Given the description of an element on the screen output the (x, y) to click on. 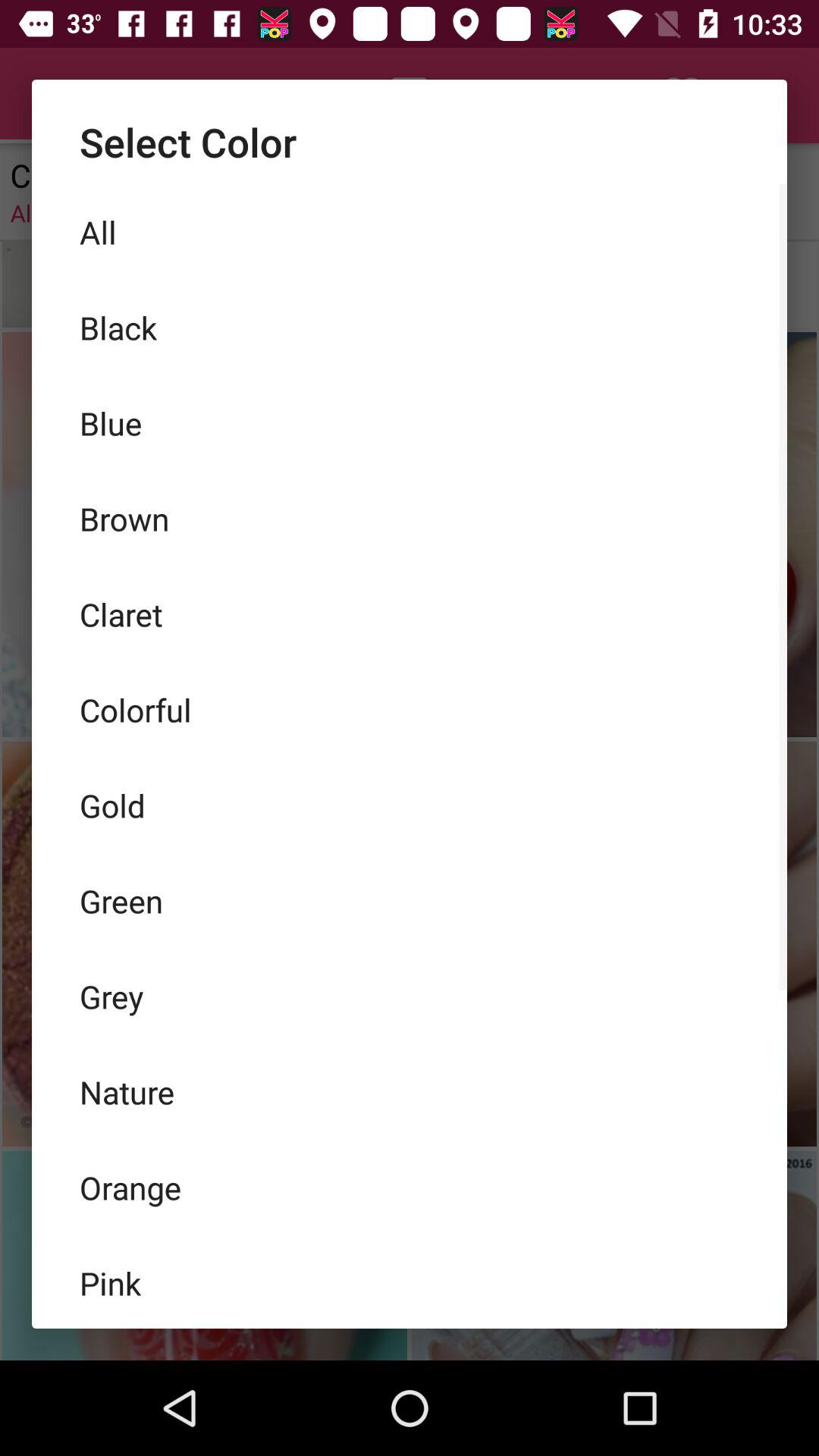
jump to gold icon (409, 805)
